Given the description of an element on the screen output the (x, y) to click on. 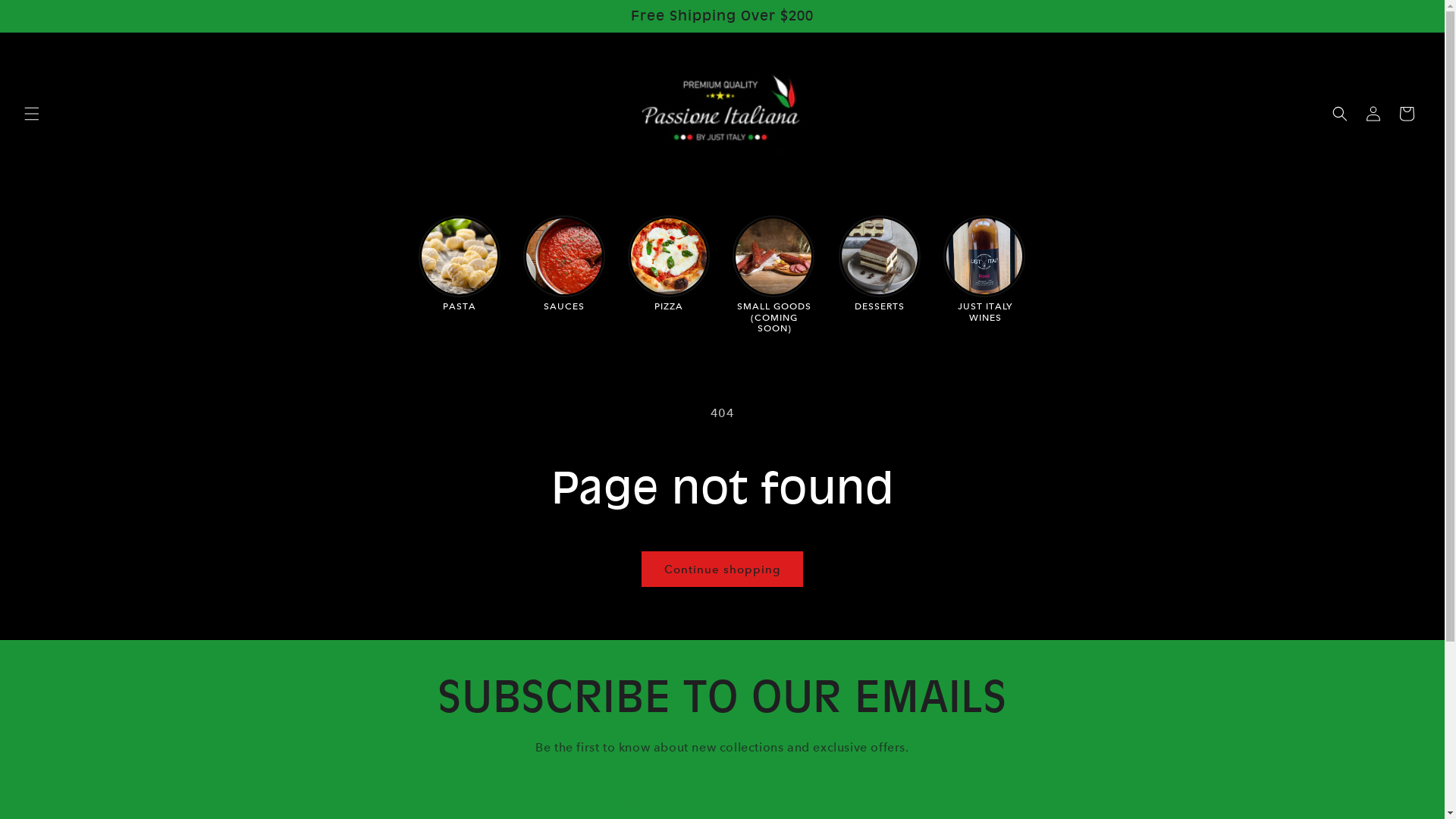
Log in Element type: text (1373, 113)
Cart Element type: text (1406, 113)
Continue shopping Element type: text (722, 568)
